Given the description of an element on the screen output the (x, y) to click on. 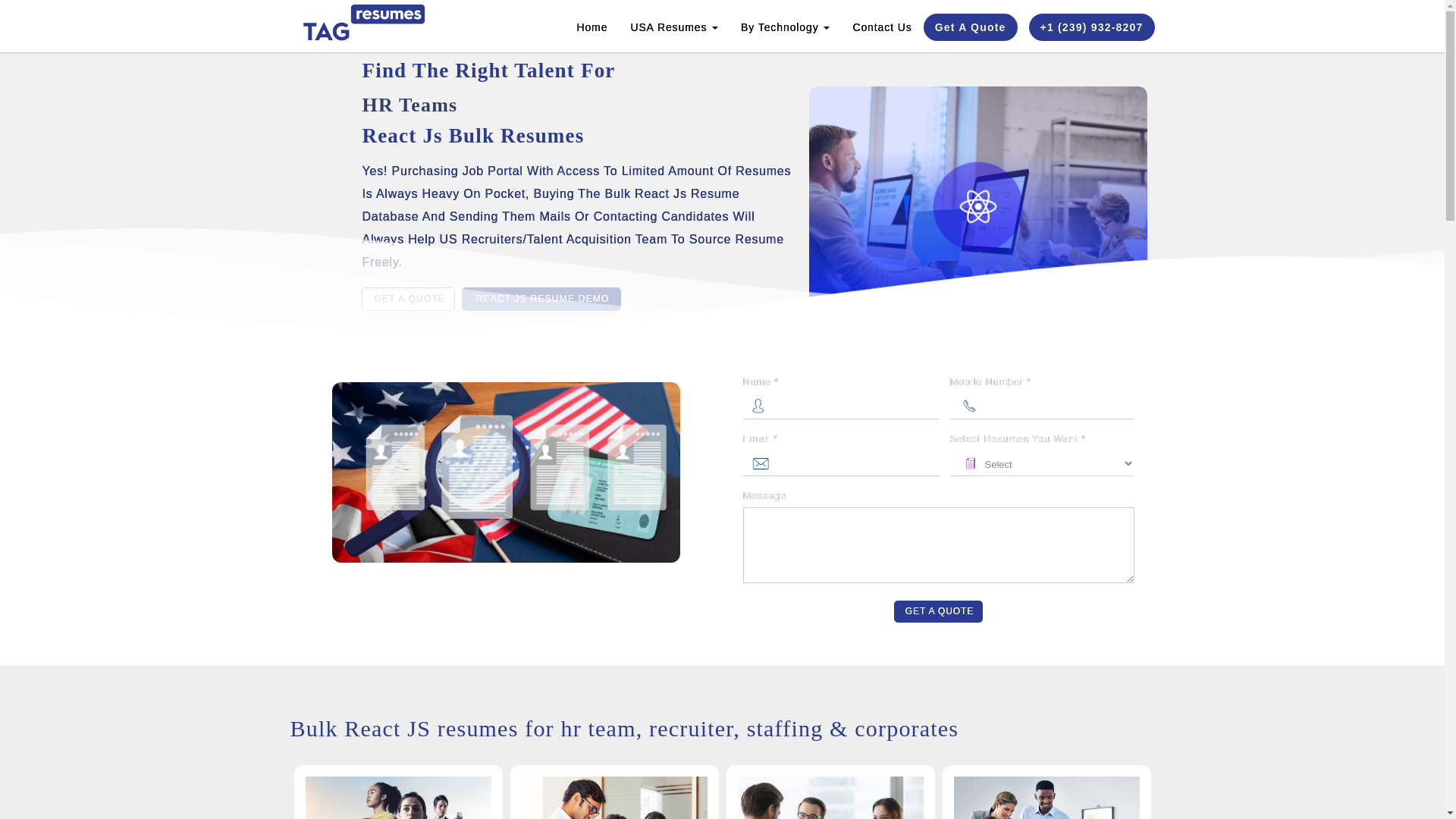
GET A QUOTE (407, 299)
REACT JS RESUME DEMO (541, 299)
GET A QUOTE (409, 297)
Get A Quote (970, 26)
Contact Us (882, 26)
GET A QUOTE (937, 611)
USA Resumes (673, 26)
By Technology (785, 26)
Home (591, 26)
